Given the description of an element on the screen output the (x, y) to click on. 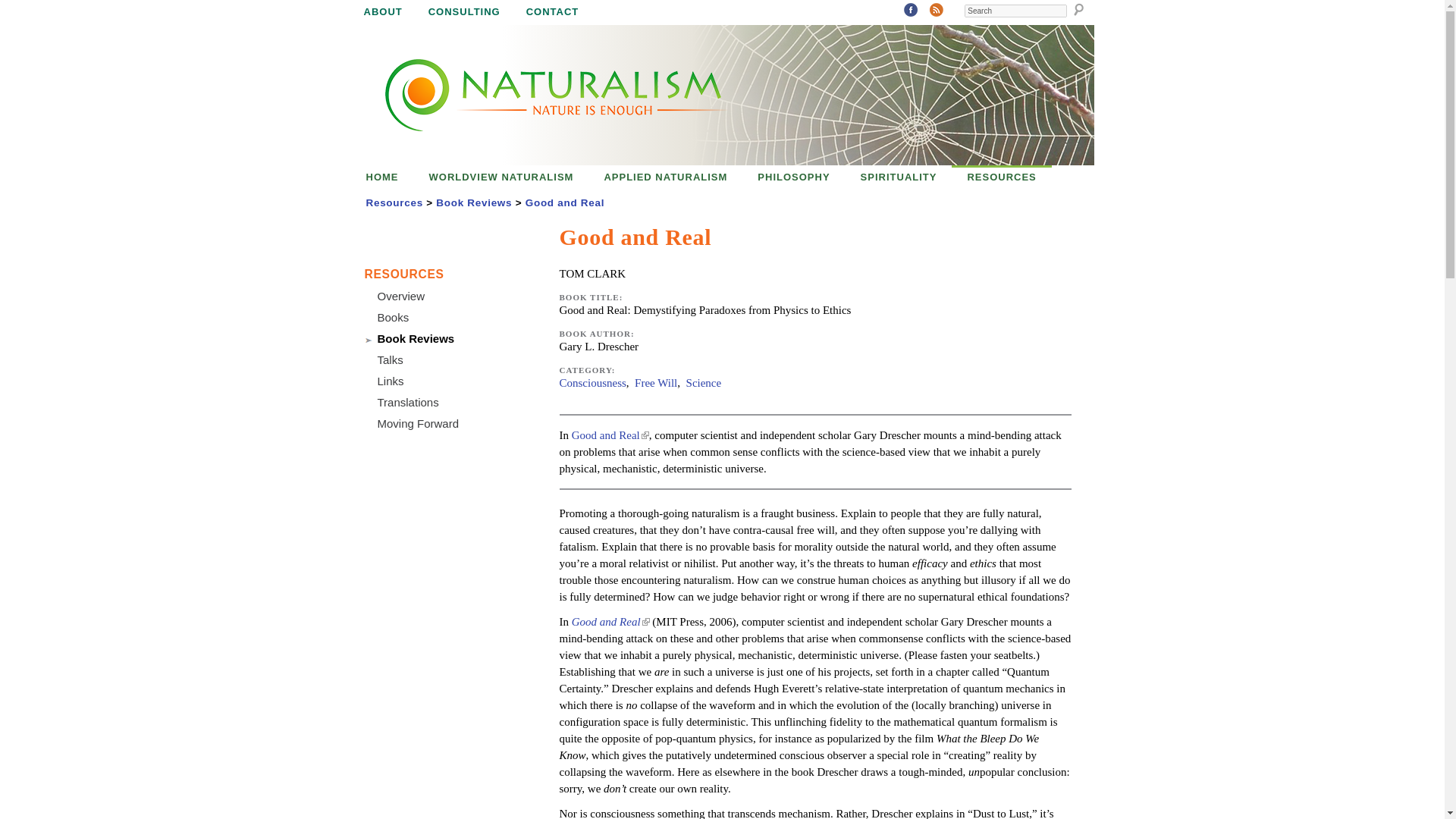
APPLIED NATURALISM (665, 177)
Enter the terms you wish to search for. (1015, 10)
Facebook (910, 10)
RSS (935, 10)
Home (538, 95)
CONSULTING (464, 12)
ABOUT (382, 12)
Search (1015, 10)
WORLDVIEW NATURALISM (500, 177)
HOME (382, 177)
Consciousness (592, 382)
Free Will (655, 382)
Science (703, 382)
CONTACT (553, 12)
